Given the description of an element on the screen output the (x, y) to click on. 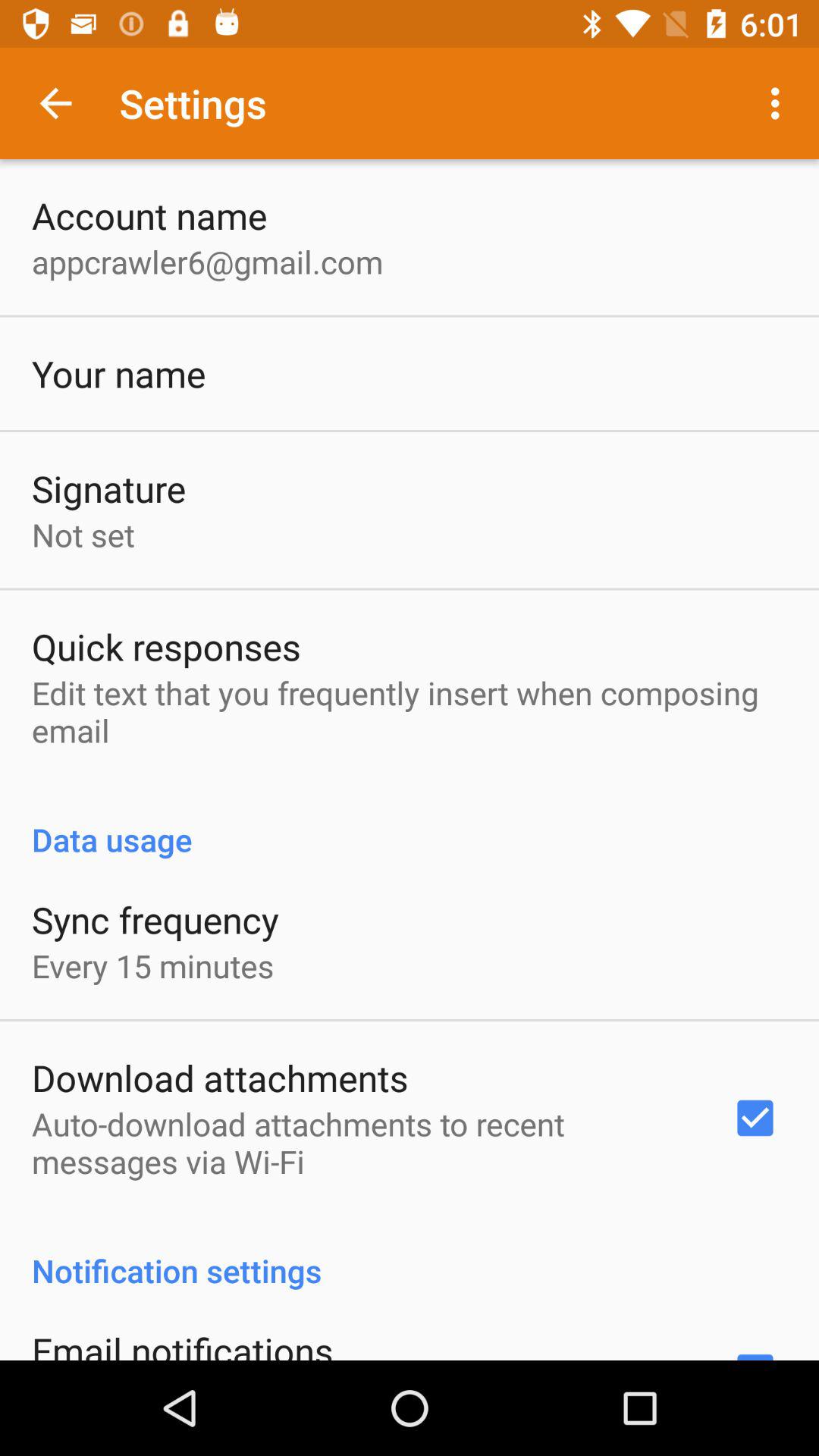
choose the account name icon (149, 215)
